Given the description of an element on the screen output the (x, y) to click on. 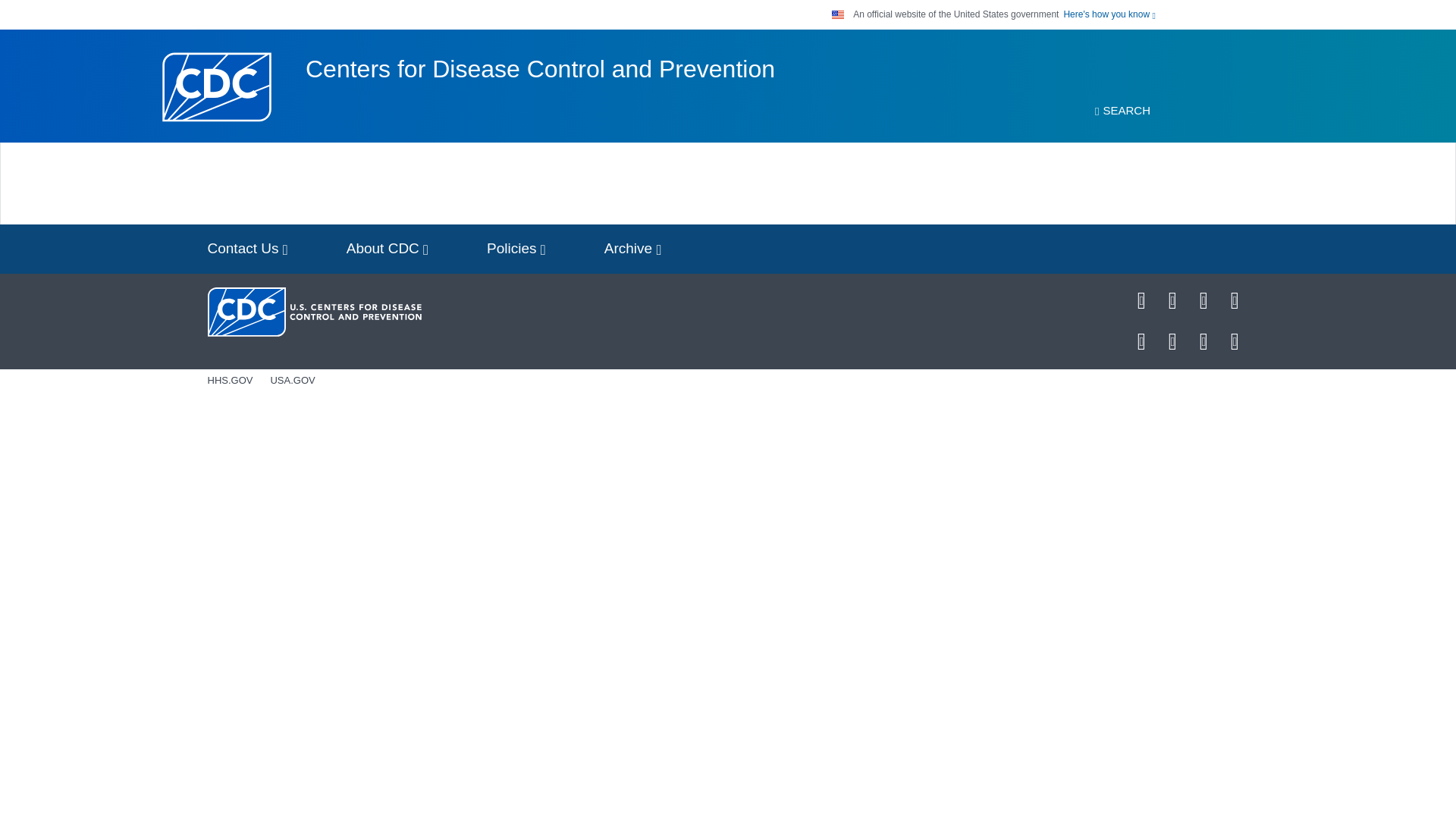
Policies (516, 248)
Contact Us (247, 248)
Archive (633, 248)
About CDC (387, 248)
Here's how you know (1108, 14)
SEARCH (1122, 110)
Centers for Disease Control and Prevention (539, 68)
